Given the description of an element on the screen output the (x, y) to click on. 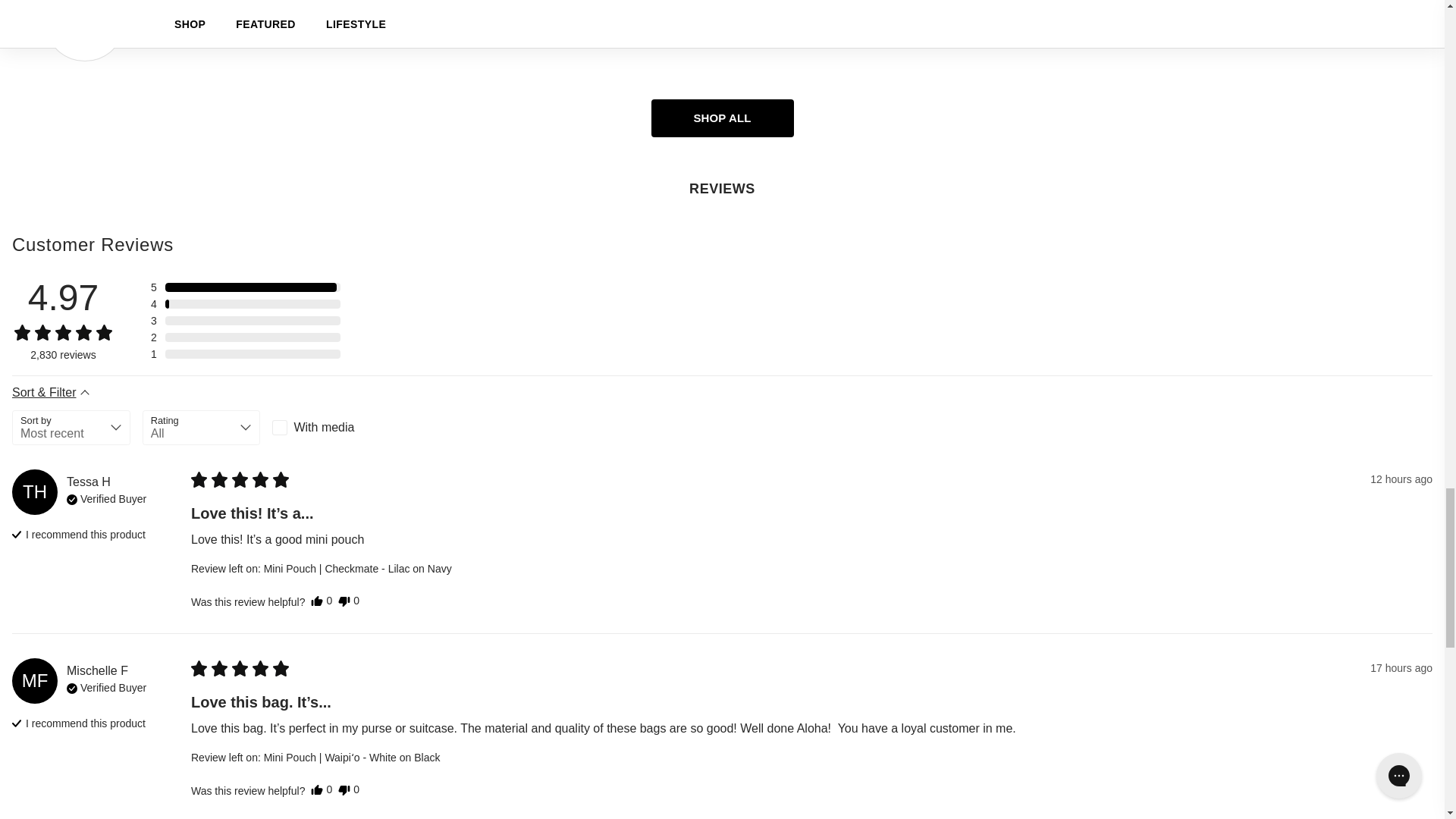
SHOP ALL (721, 118)
